Given the description of an element on the screen output the (x, y) to click on. 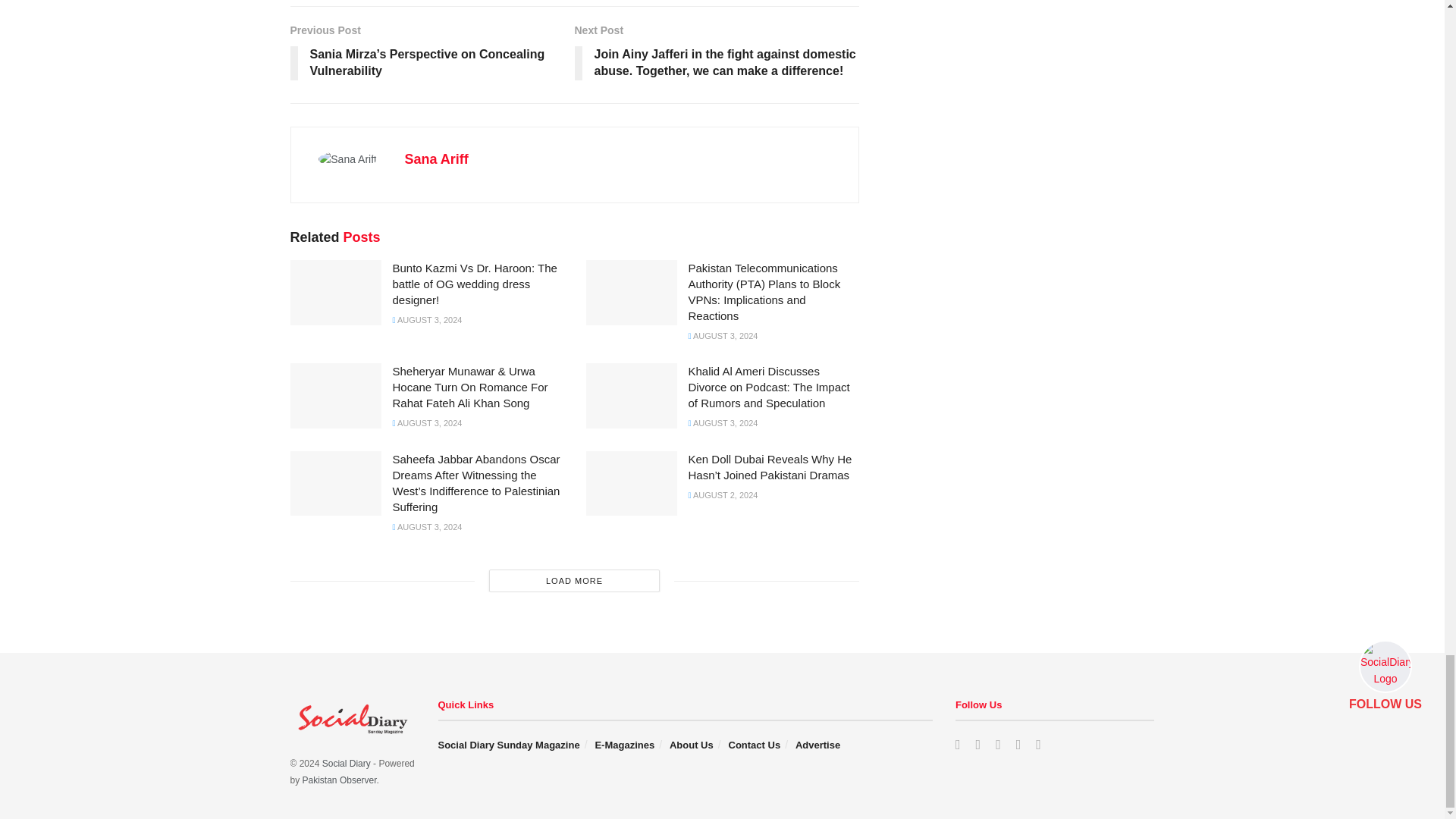
Webmaster (339, 779)
